Given the description of an element on the screen output the (x, y) to click on. 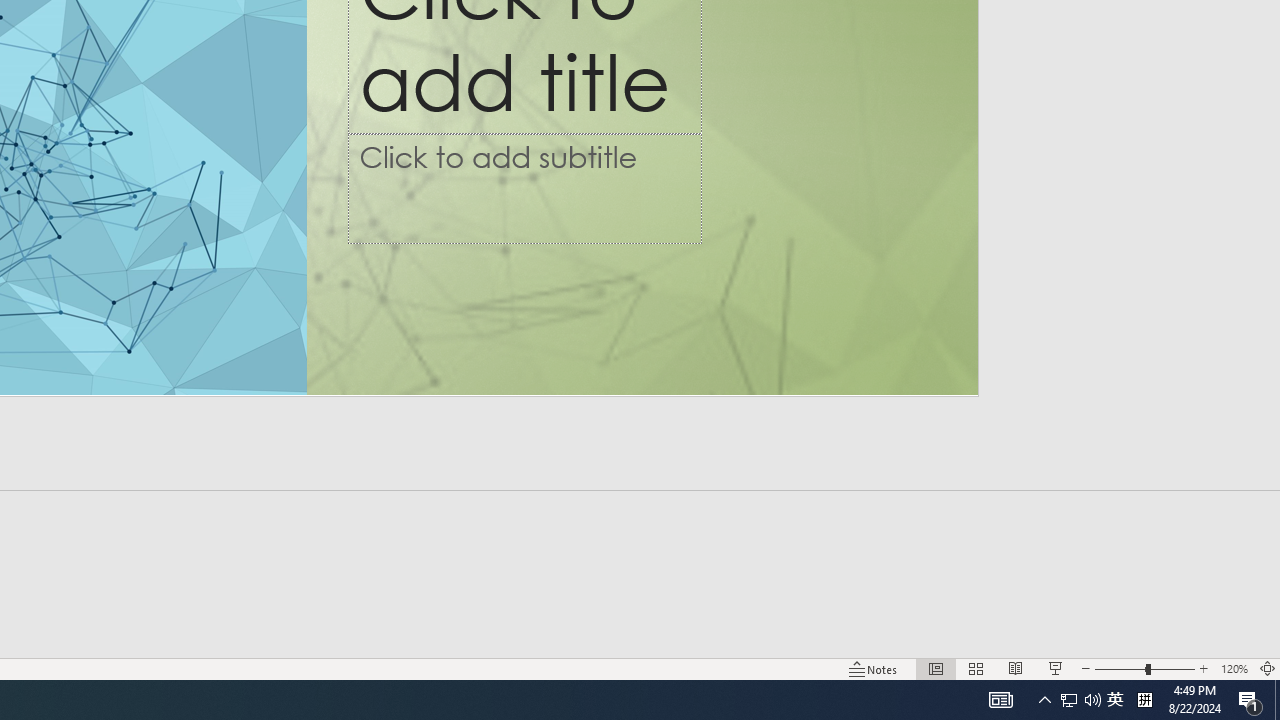
Zoom 120% (1234, 668)
Show desktop (1277, 699)
